Given the description of an element on the screen output the (x, y) to click on. 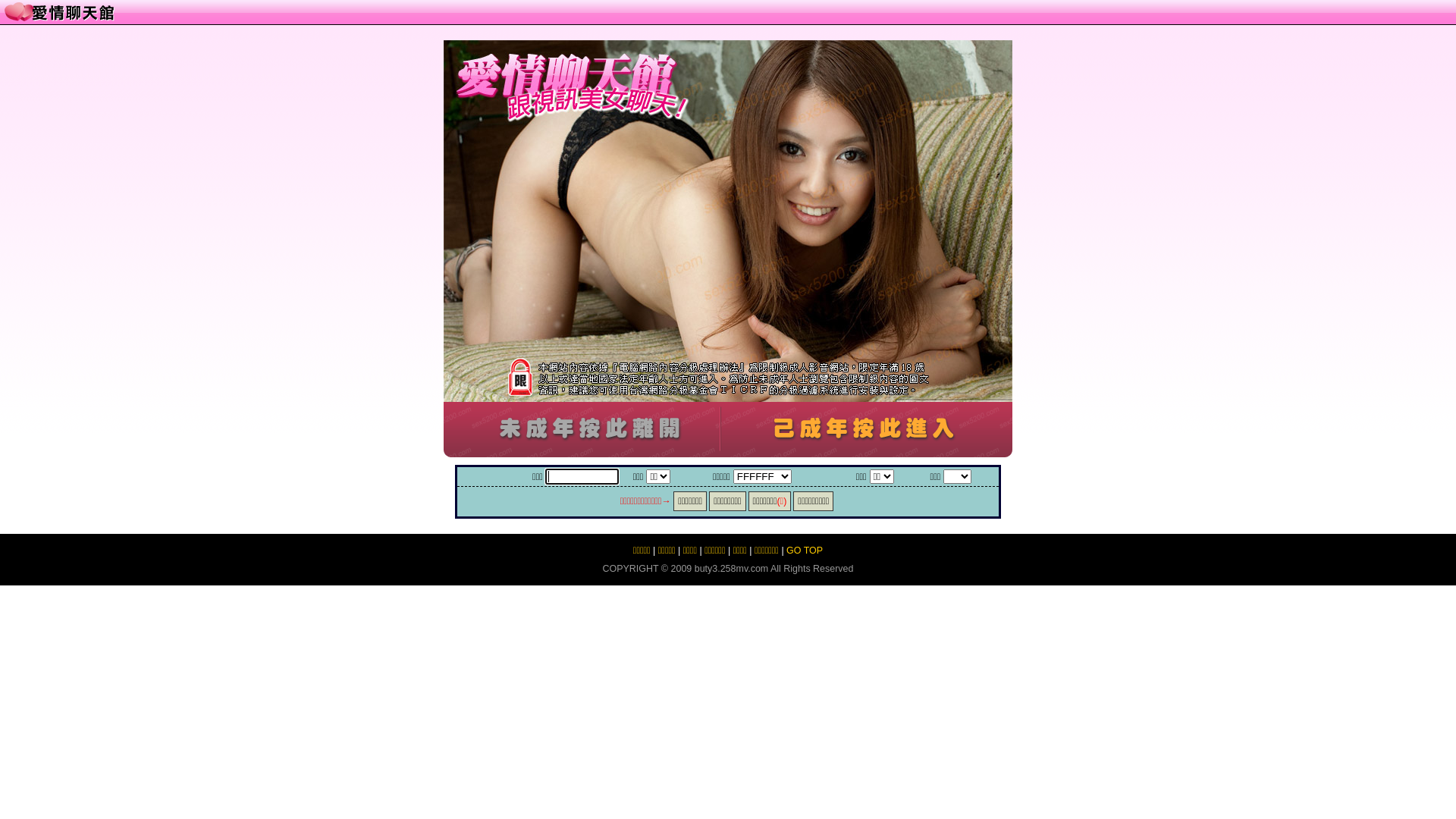
buty3.258mv.com Element type: text (731, 568)
GO TOP Element type: text (804, 550)
